Given the description of an element on the screen output the (x, y) to click on. 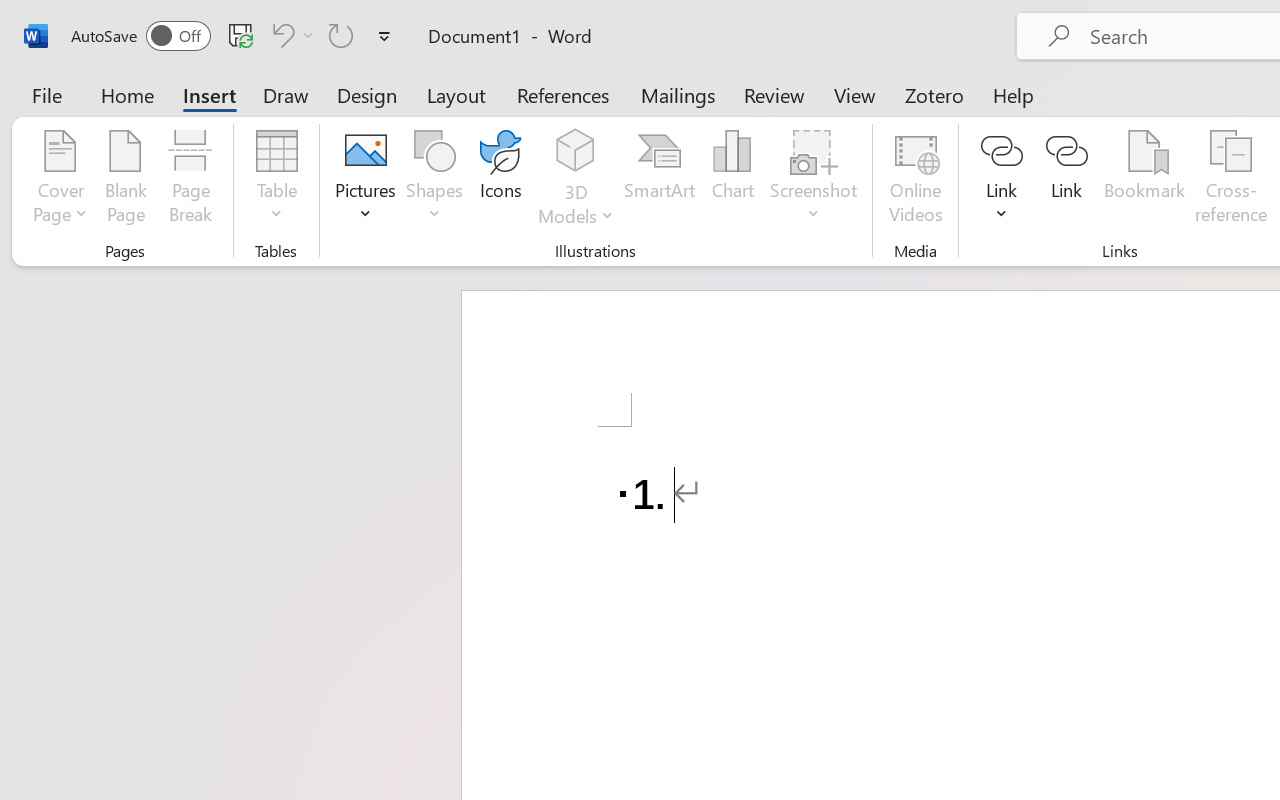
Blank Page (125, 179)
3D Models (576, 179)
SmartArt... (659, 179)
Shapes (435, 179)
